Given the description of an element on the screen output the (x, y) to click on. 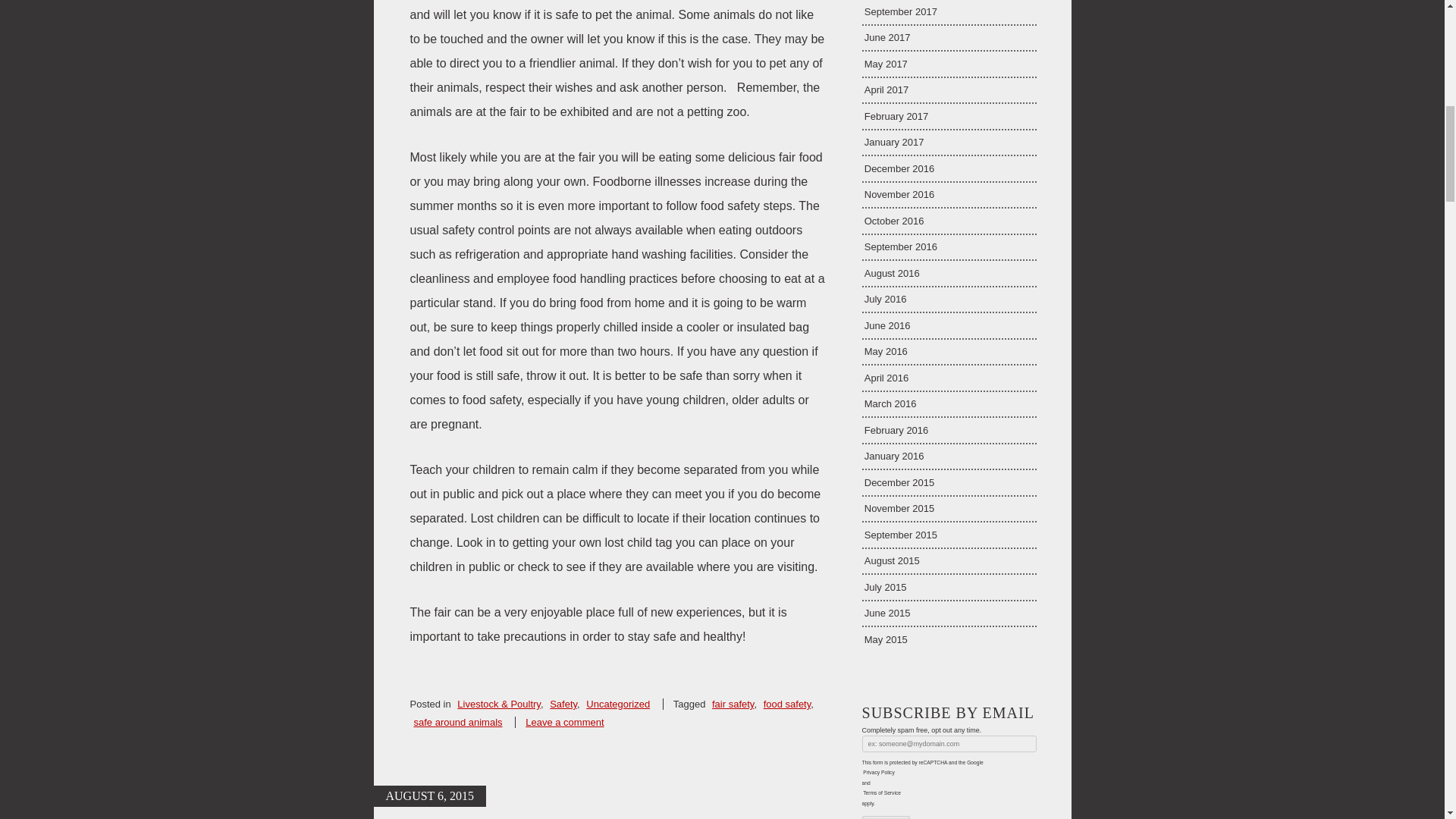
Safety (563, 704)
Subscribe (884, 817)
food safety (786, 704)
Uncategorized (617, 704)
fair safety (732, 704)
safe around animals (457, 722)
Leave a comment (564, 722)
